Given the description of an element on the screen output the (x, y) to click on. 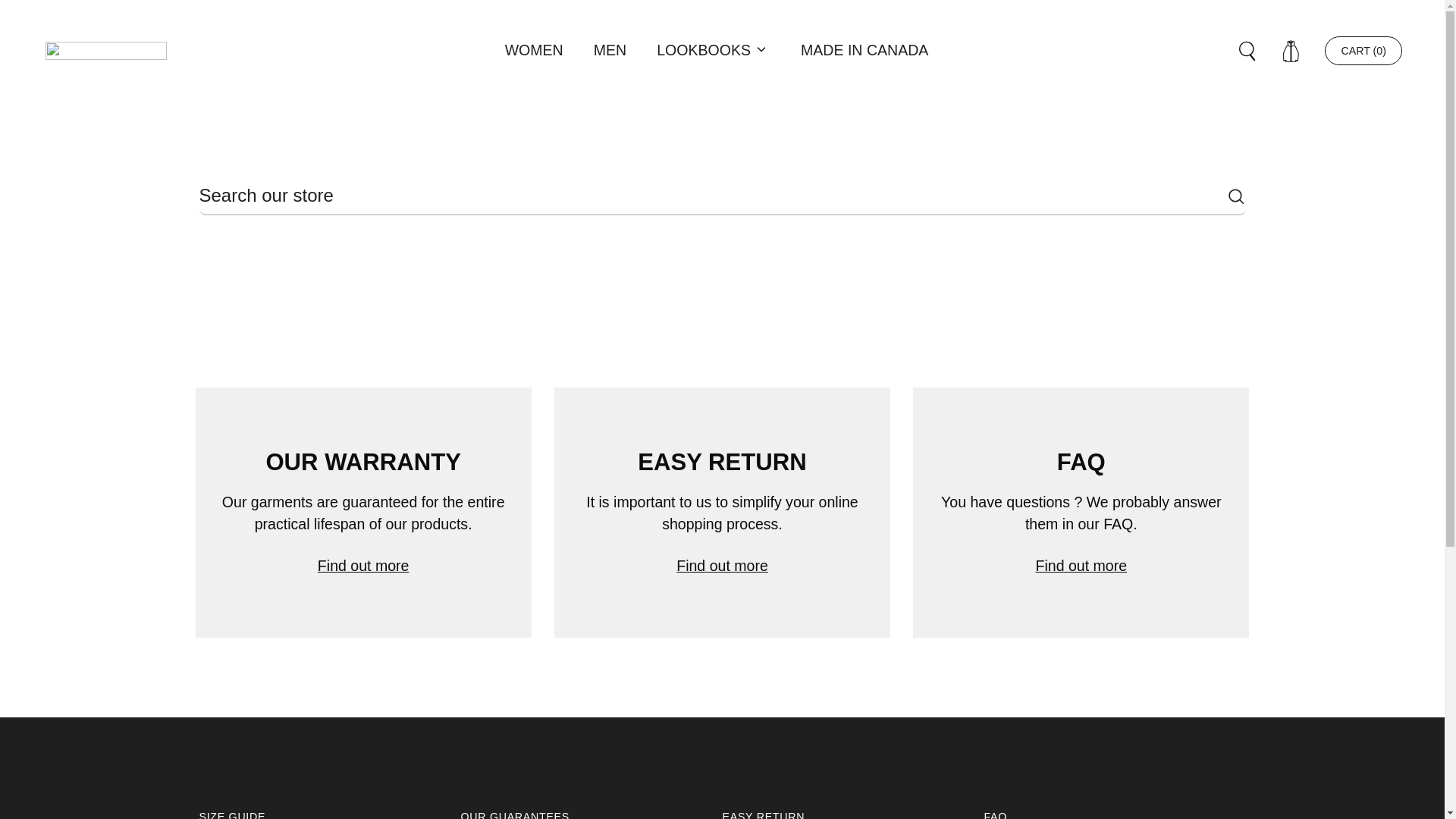
EASY RETURN (763, 814)
Show submenu (762, 50)
OUR GUARANTEES (515, 814)
Our warranty (362, 512)
MEN (610, 49)
FAQ (1080, 512)
WOMEN (534, 49)
SIZE GUIDE (231, 814)
Easy return (722, 512)
MADE IN CANADA (864, 49)
LOOKBOOKS (703, 49)
